Given the description of an element on the screen output the (x, y) to click on. 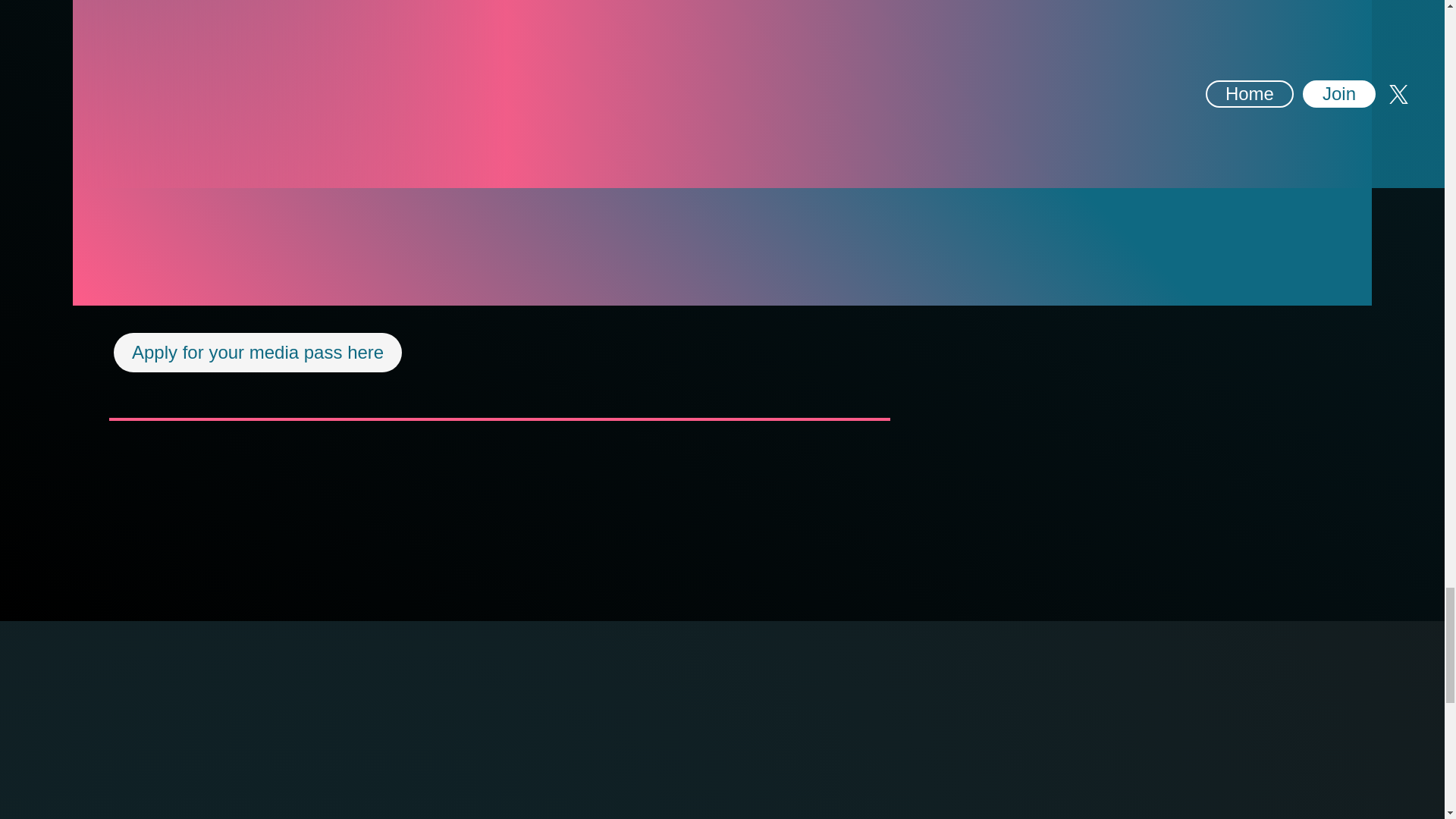
Apply for your media pass here (258, 352)
Apply for your media pass here (257, 352)
